Given the description of an element on the screen output the (x, y) to click on. 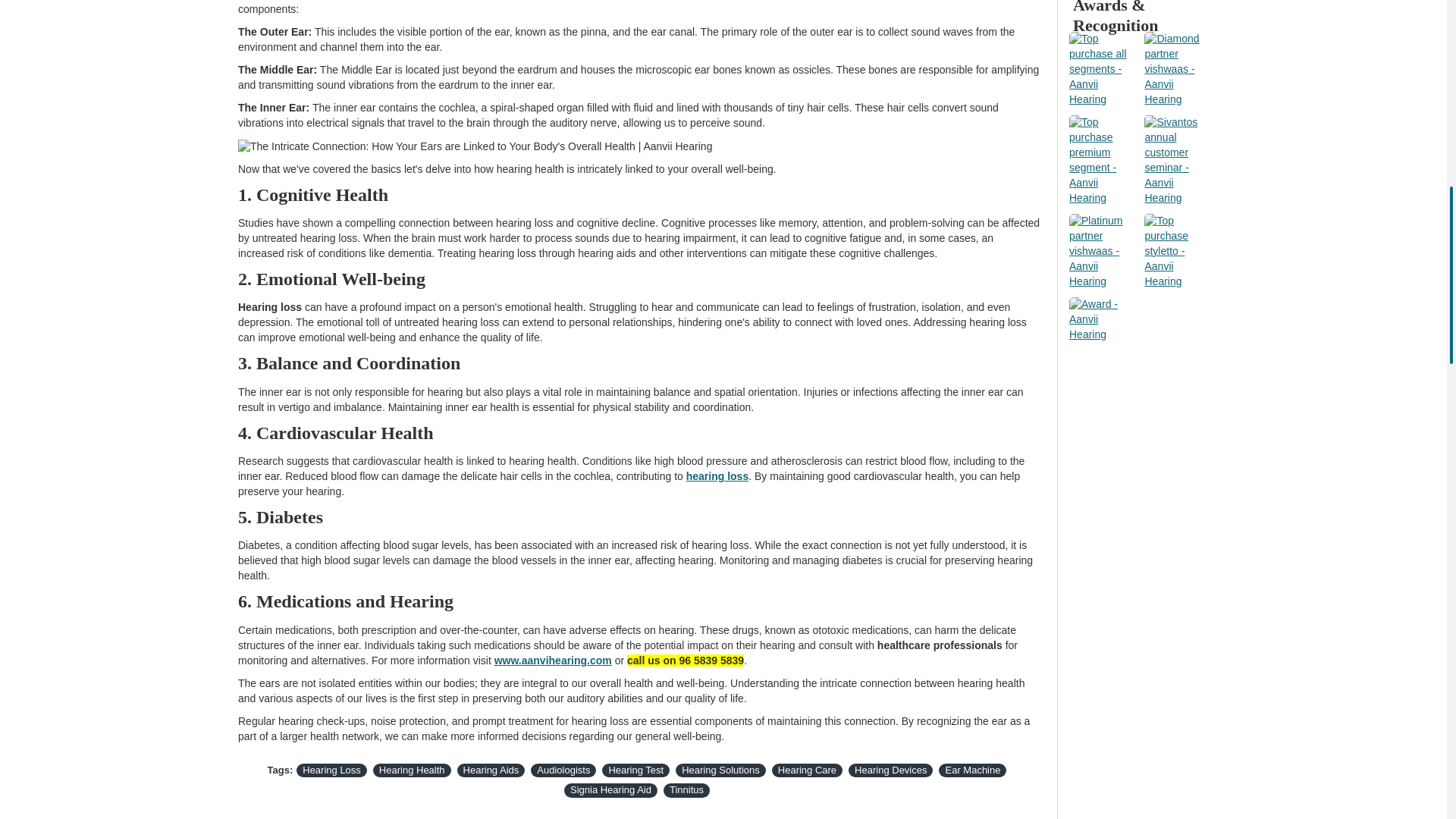
Award - Aanvii Hearing (1102, 320)
Top purchase all segments - Aanvii Hearing (1102, 69)
Top purchase styletto - Aanvii Hearing (1177, 251)
Platinum partner vishwaas - Aanvii Hearing (1102, 251)
Diamond partner vishwaas - Aanvii Hearing (1177, 69)
